Given the description of an element on the screen output the (x, y) to click on. 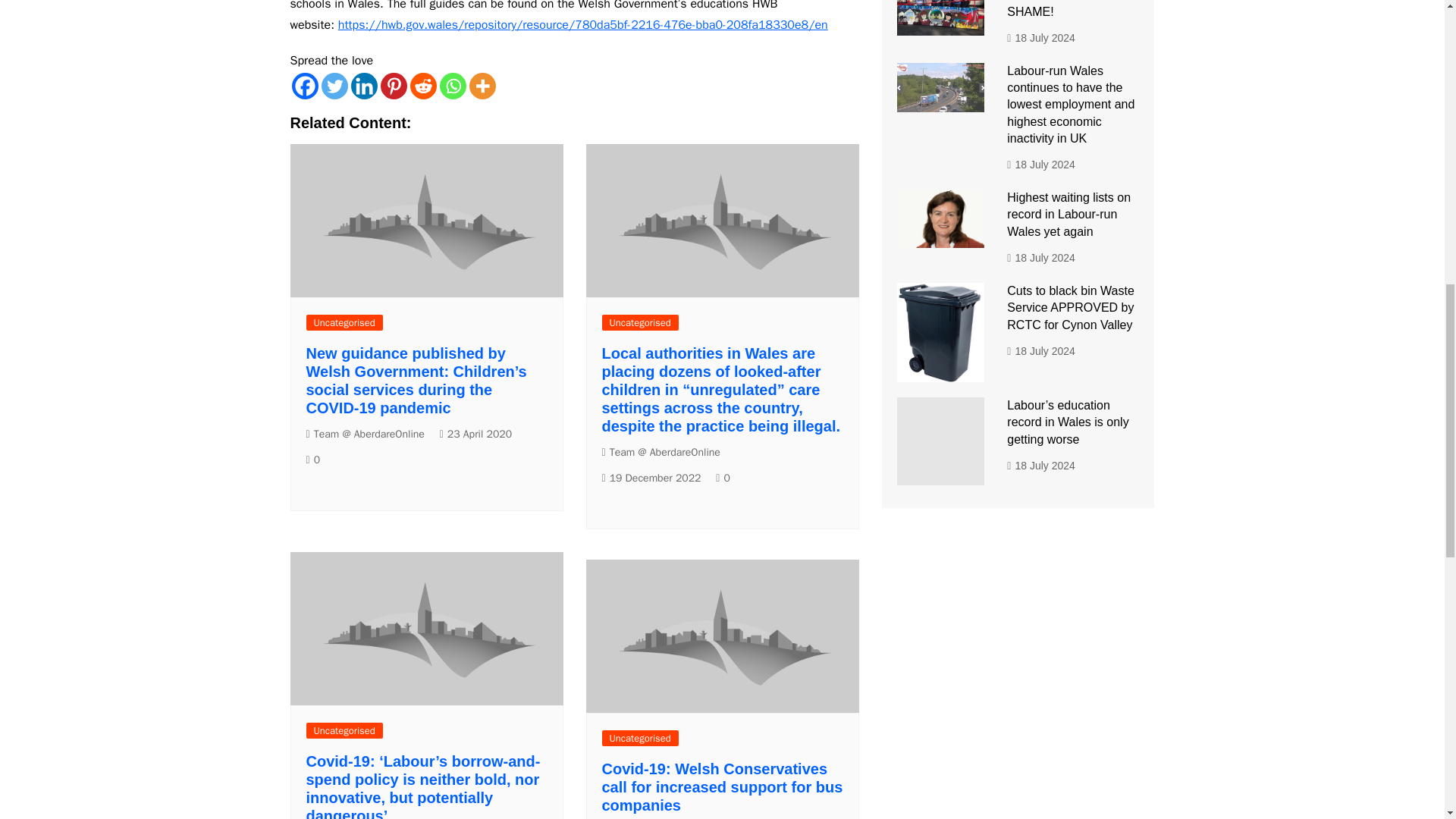
Reddit (422, 85)
Facebook (304, 85)
Pinterest (393, 85)
Uncategorised (343, 322)
More (481, 85)
Twitter (334, 85)
Whatsapp (452, 85)
Linkedin (363, 85)
